Given the description of an element on the screen output the (x, y) to click on. 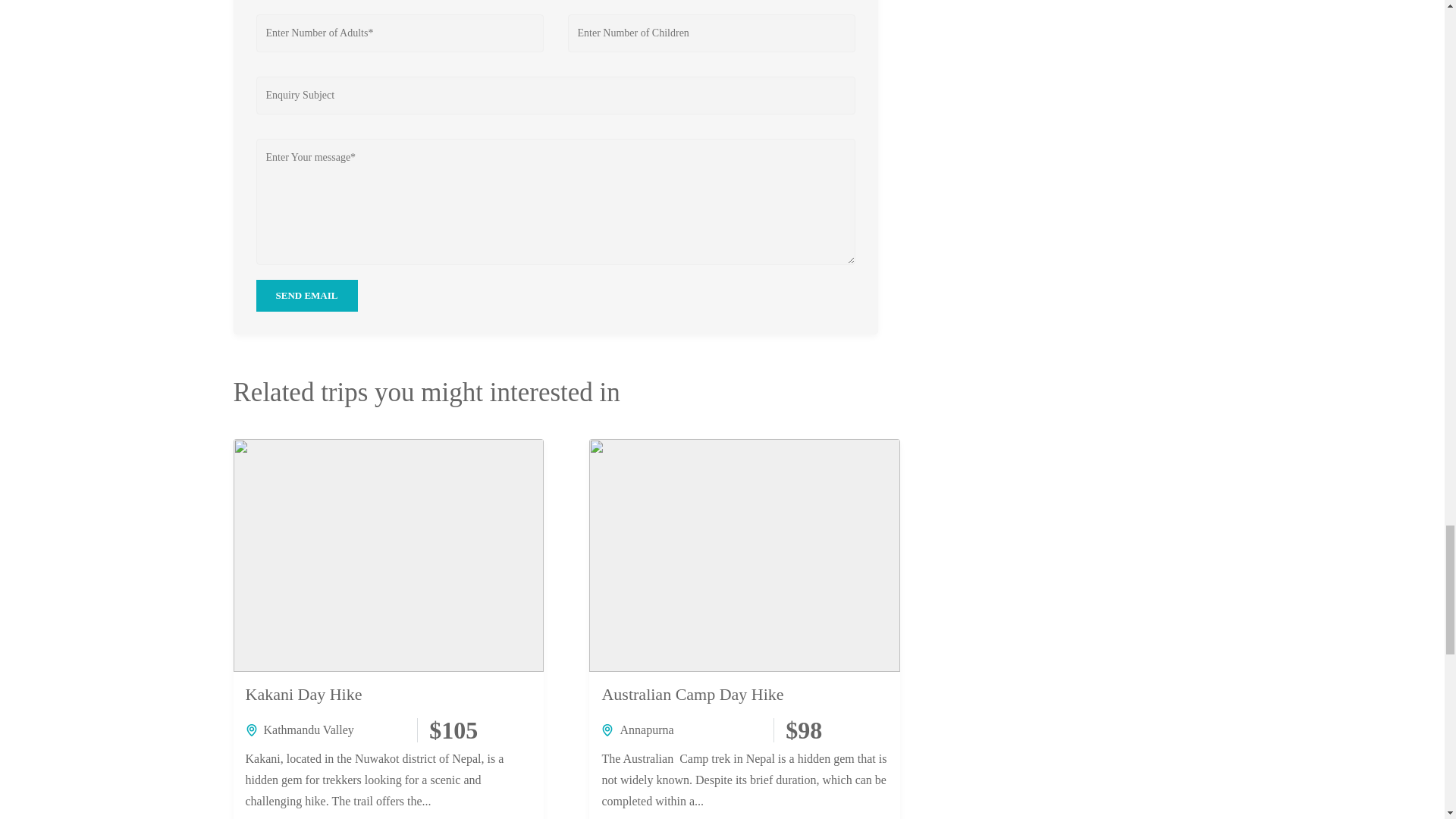
Send Email (307, 296)
